Given the description of an element on the screen output the (x, y) to click on. 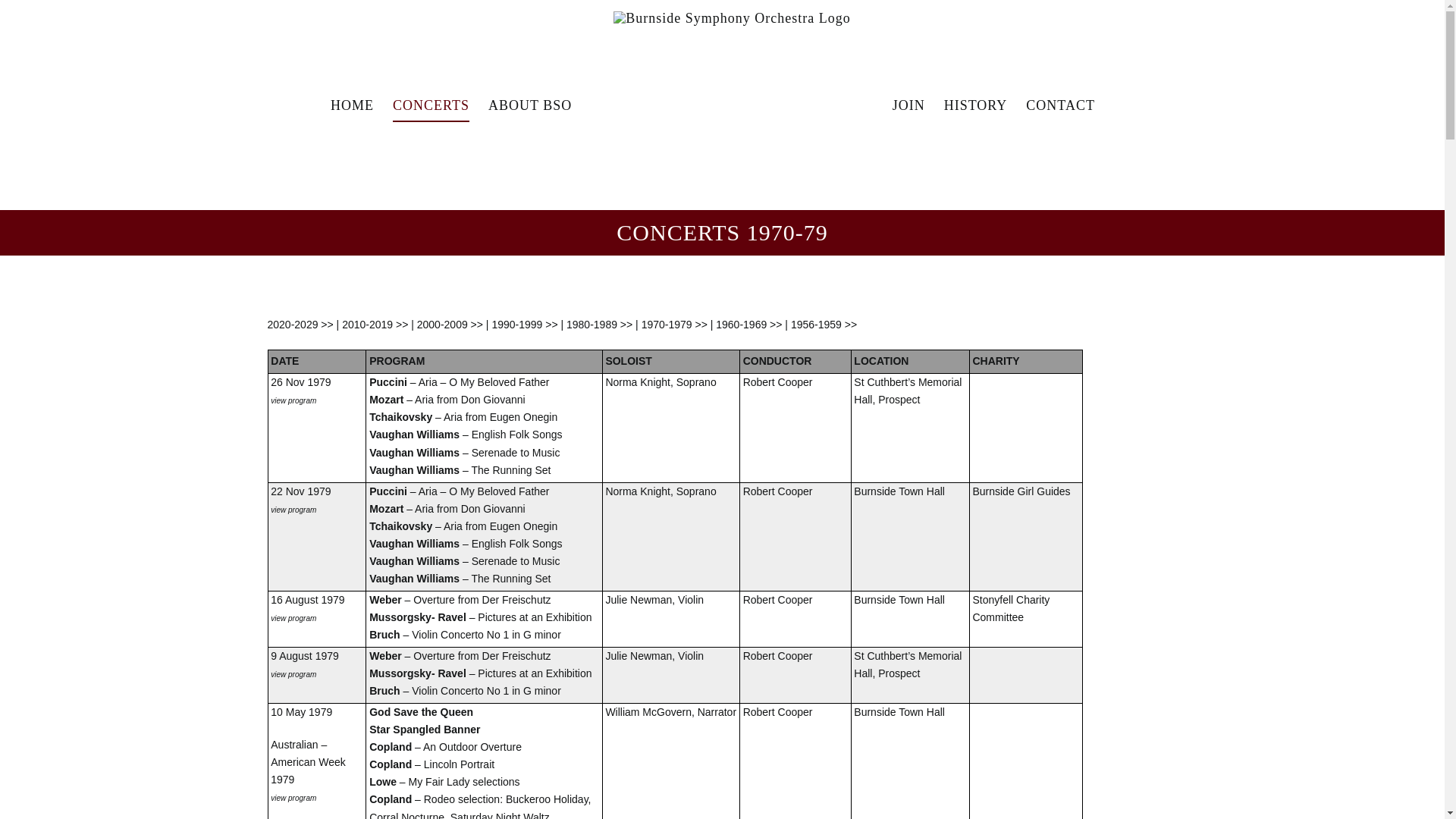
view program Element type: text (293, 508)
2010-2019 >> Element type: text (374, 324)
view program Element type: text (293, 617)
CONCERTS Element type: text (430, 105)
1980-1989 >> Element type: text (599, 324)
ABOUT BSO Element type: text (529, 105)
1956-1959 >> Element type: text (823, 324)
HISTORY Element type: text (975, 105)
1990-1999 >> Element type: text (524, 324)
2000-2009 >> Element type: text (450, 324)
2020-2029 >> Element type: text (299, 324)
JOIN Element type: text (908, 105)
1960-1969 >> Element type: text (748, 324)
CONTACT Element type: text (1060, 105)
view program Element type: text (293, 673)
view program Element type: text (293, 796)
1970-1979 >> Element type: text (674, 324)
HOME Element type: text (351, 105)
view program Element type: text (293, 399)
